Given the description of an element on the screen output the (x, y) to click on. 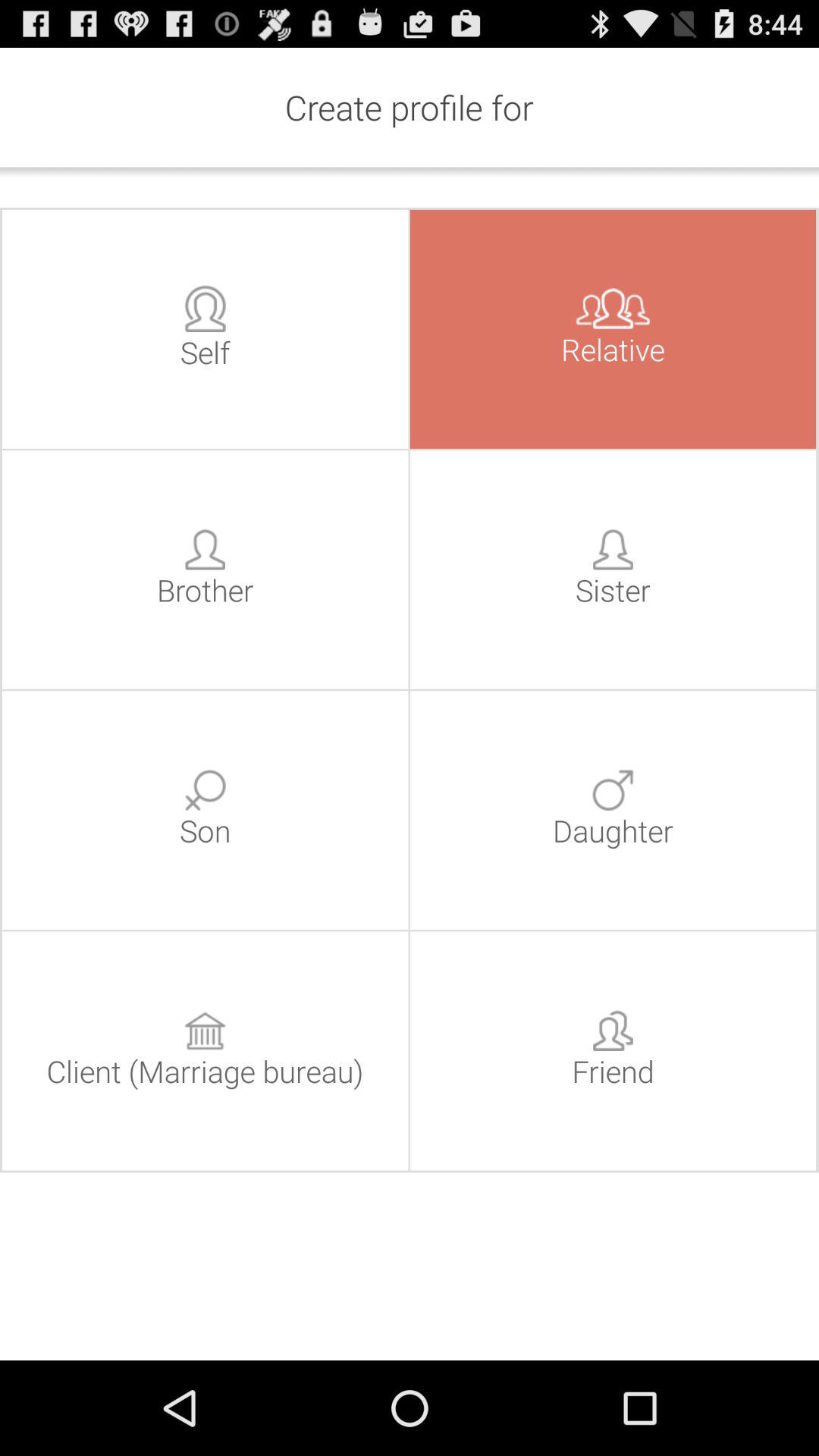
click on the text above self (205, 308)
select icon above the text friend (613, 1030)
select the people image option above relative (613, 308)
